Given the description of an element on the screen output the (x, y) to click on. 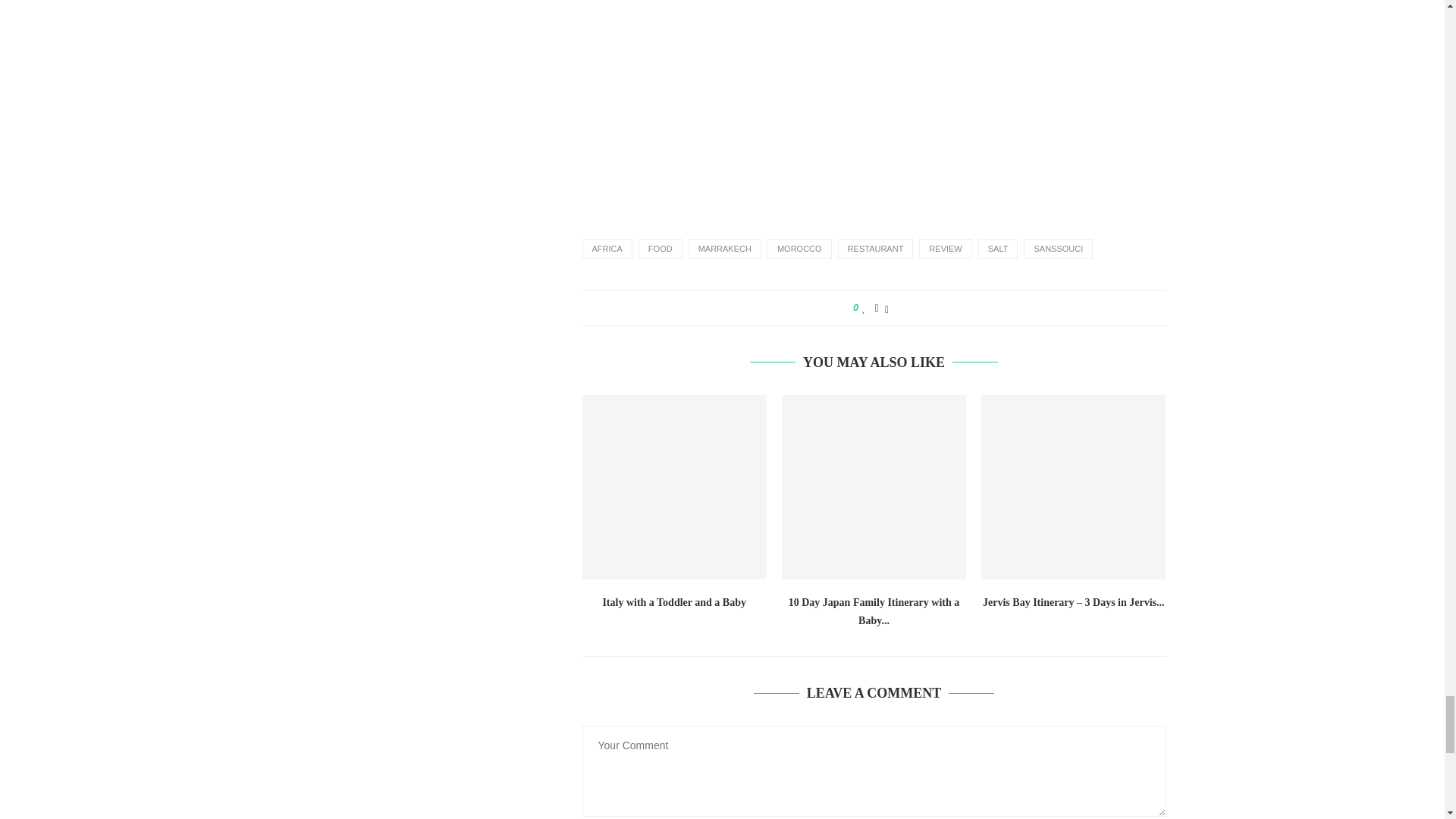
Italy with a Toddler and a Baby (674, 486)
A Lovely Planet - Salt - Sanssouci Collection - Marrakech  (874, 100)
10 Day Japan Family Itinerary with a Baby and a Toddler (873, 486)
